Given the description of an element on the screen output the (x, y) to click on. 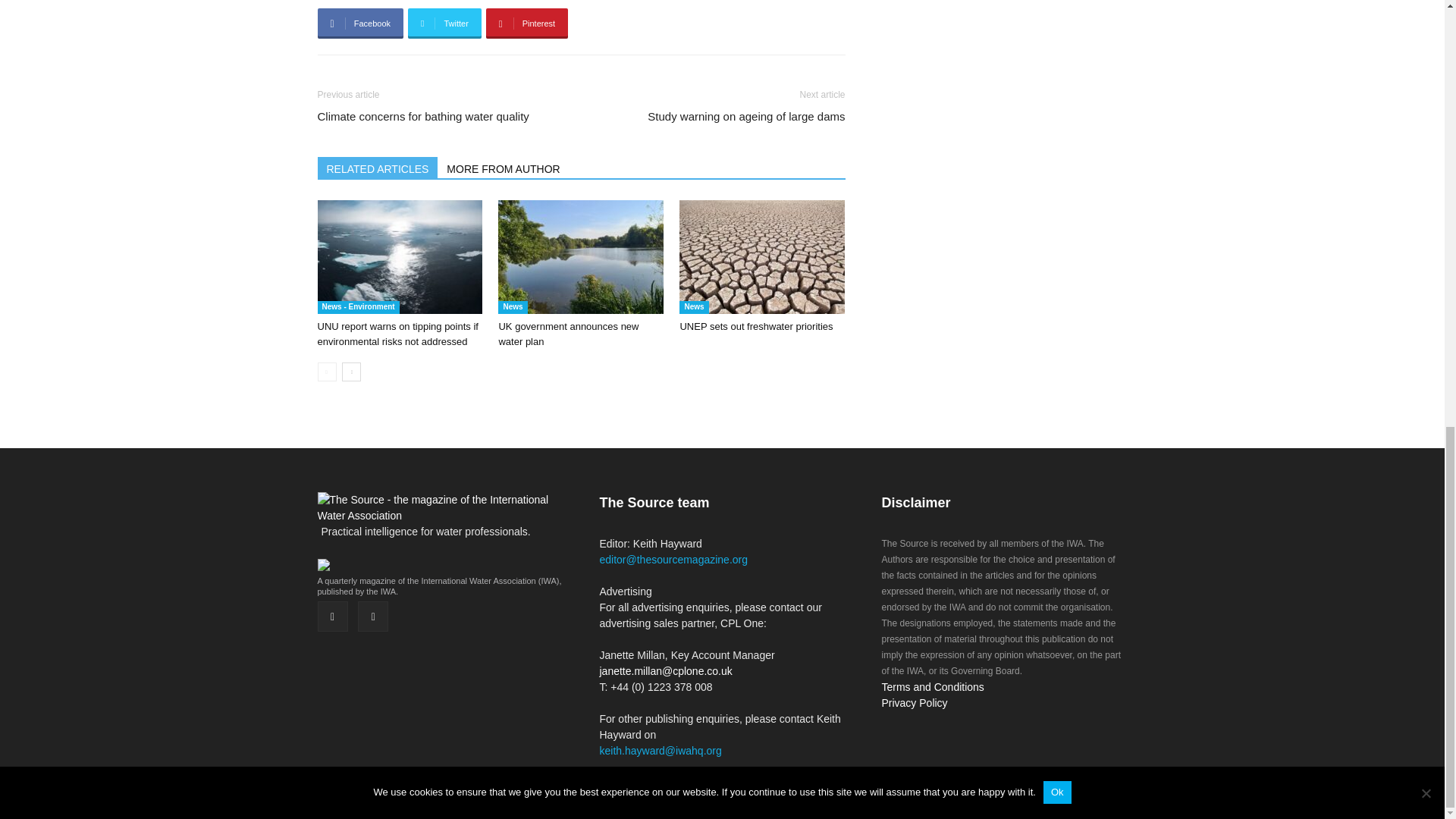
UK government announces new water plan (568, 334)
UNEP sets out freshwater priorities (755, 326)
UK government announces new water plan (580, 256)
UNEP sets out freshwater priorities (761, 256)
